Given the description of an element on the screen output the (x, y) to click on. 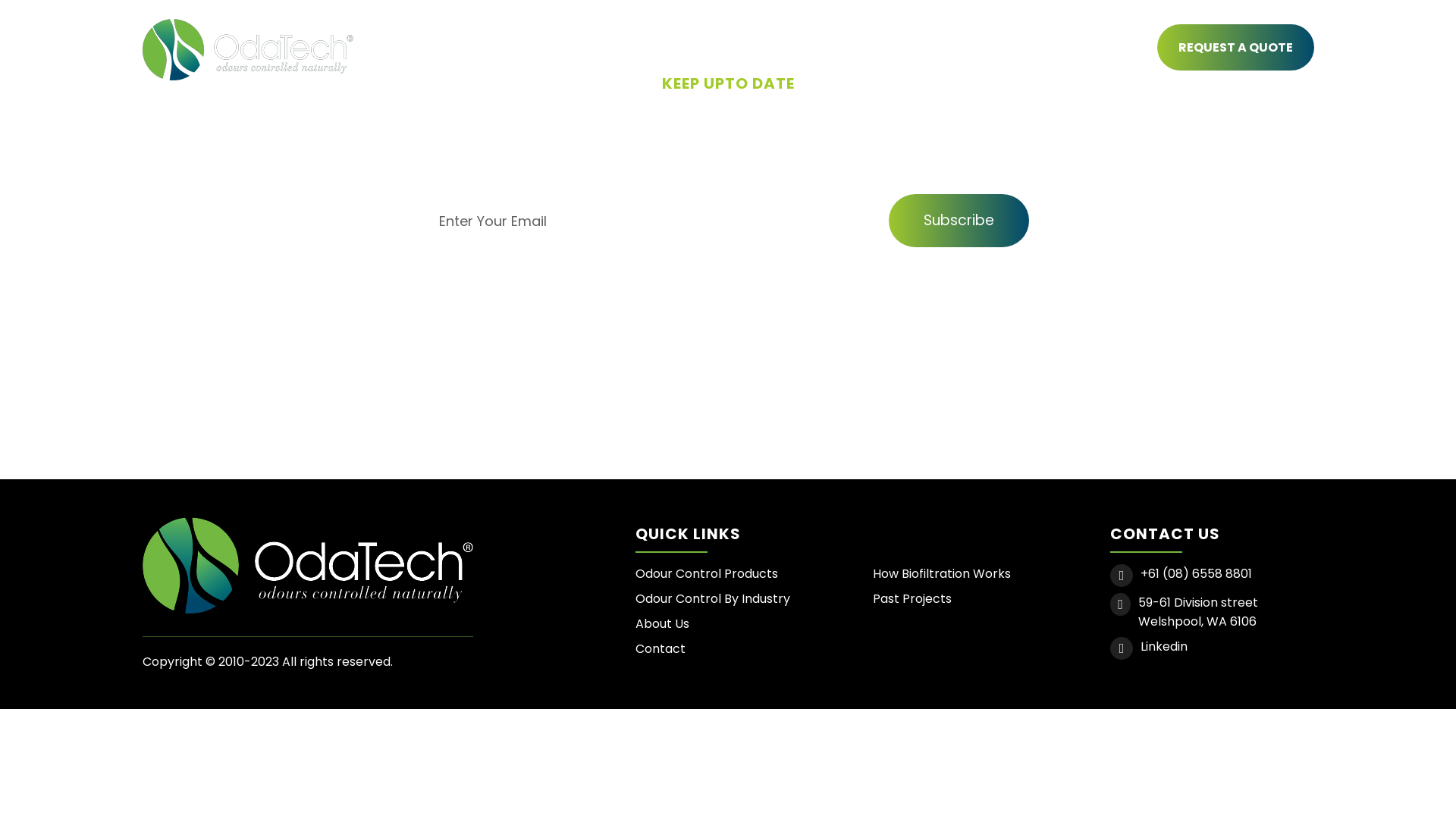
+61 (08) 6558 8801 Element type: text (1196, 573)
59-61 Division street Welshpool, WA 6106 Element type: text (1225, 611)
How Biofiltration Works Element type: text (643, 49)
Past Projects Element type: text (911, 598)
REQUEST A QUOTE Element type: text (1235, 47)
Odour Control By Industry Element type: text (712, 598)
Odour Control Products Element type: text (480, 49)
Odour Control Products Element type: text (706, 573)
How Biofiltration Works Element type: text (941, 573)
About Us Element type: text (1041, 49)
Linkedin Element type: text (1163, 646)
Odour Control By Industry Element type: text (812, 49)
Subscribe Element type: text (958, 220)
Contact Element type: text (1117, 49)
About Us Element type: text (662, 623)
Past Projects Element type: text (952, 49)
Contact Element type: text (660, 648)
